Given the description of an element on the screen output the (x, y) to click on. 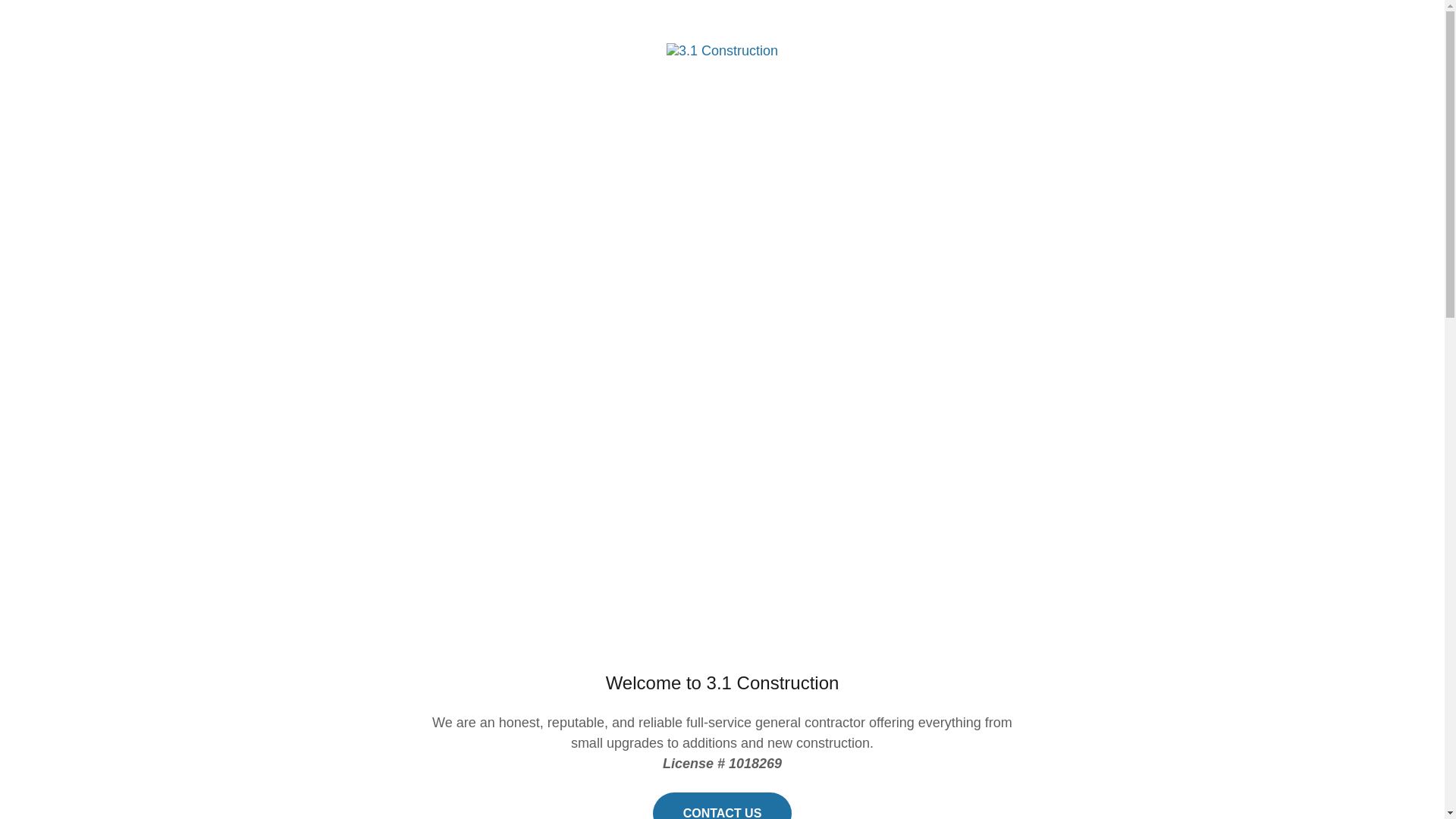
3.1 Construction Element type: hover (722, 49)
